Given the description of an element on the screen output the (x, y) to click on. 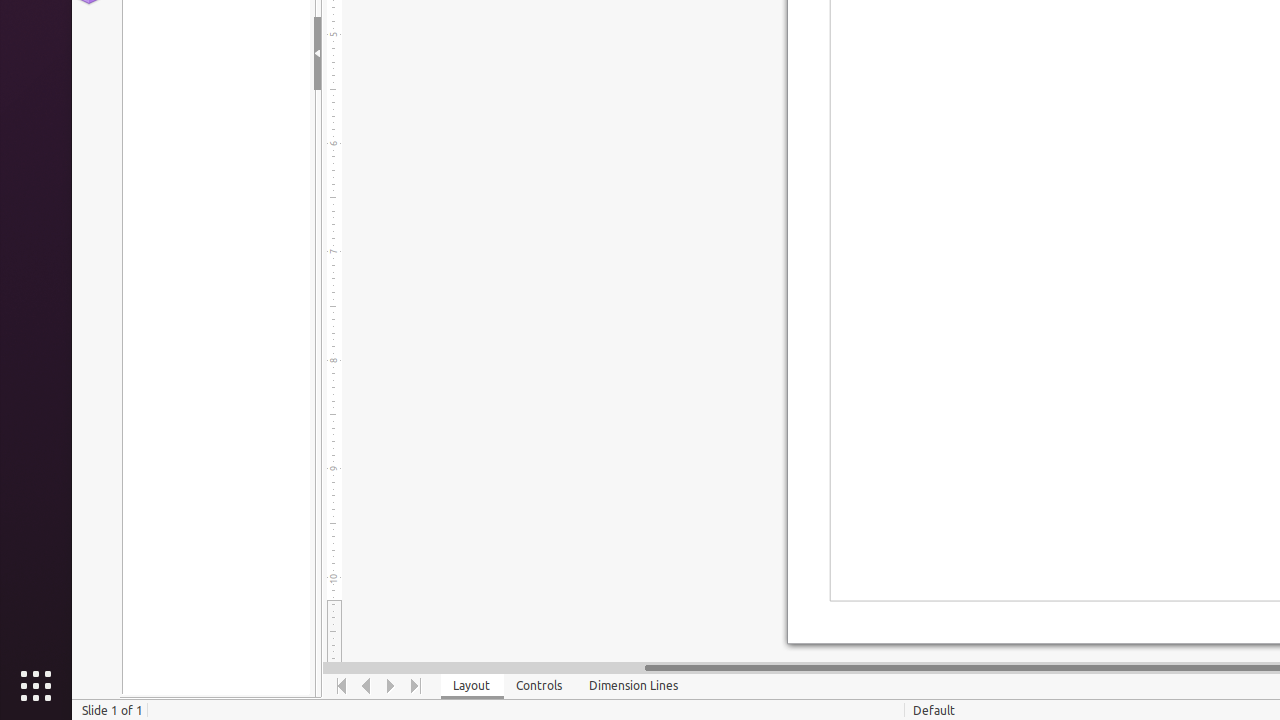
Show Applications Element type: toggle-button (36, 686)
